Given the description of an element on the screen output the (x, y) to click on. 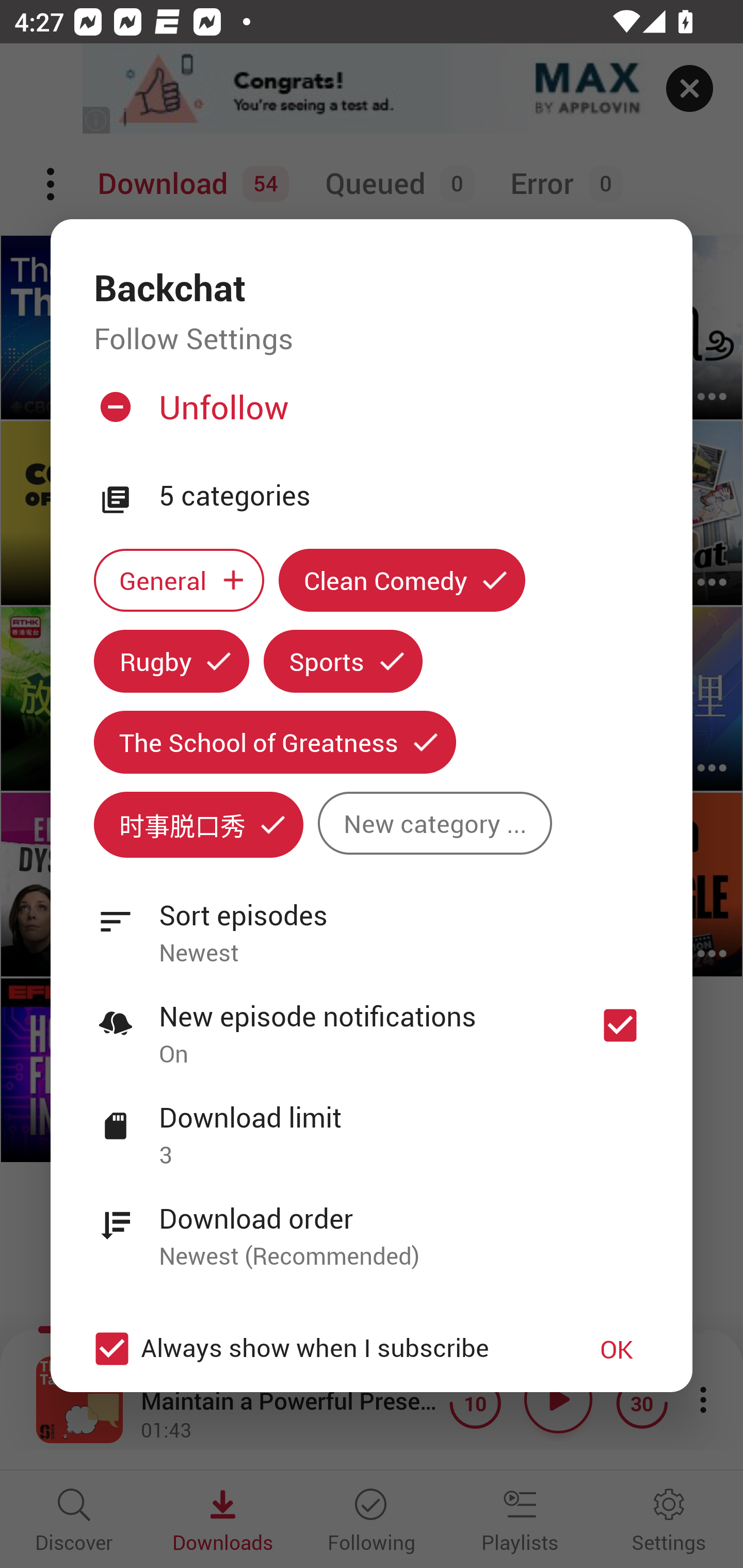
Unfollow (369, 415)
5 categories (404, 495)
General (178, 579)
Clean Comedy (401, 579)
Rugby (170, 661)
Sports (342, 661)
The School of Greatness (274, 741)
时事脱口秀 (198, 824)
New category ... (435, 822)
Sort episodes Newest (371, 922)
New episode notifications (620, 1025)
Download limit 3 (371, 1125)
Download order Newest (Recommended) (371, 1226)
OK (616, 1349)
Always show when I subscribe (320, 1349)
